Given the description of an element on the screen output the (x, y) to click on. 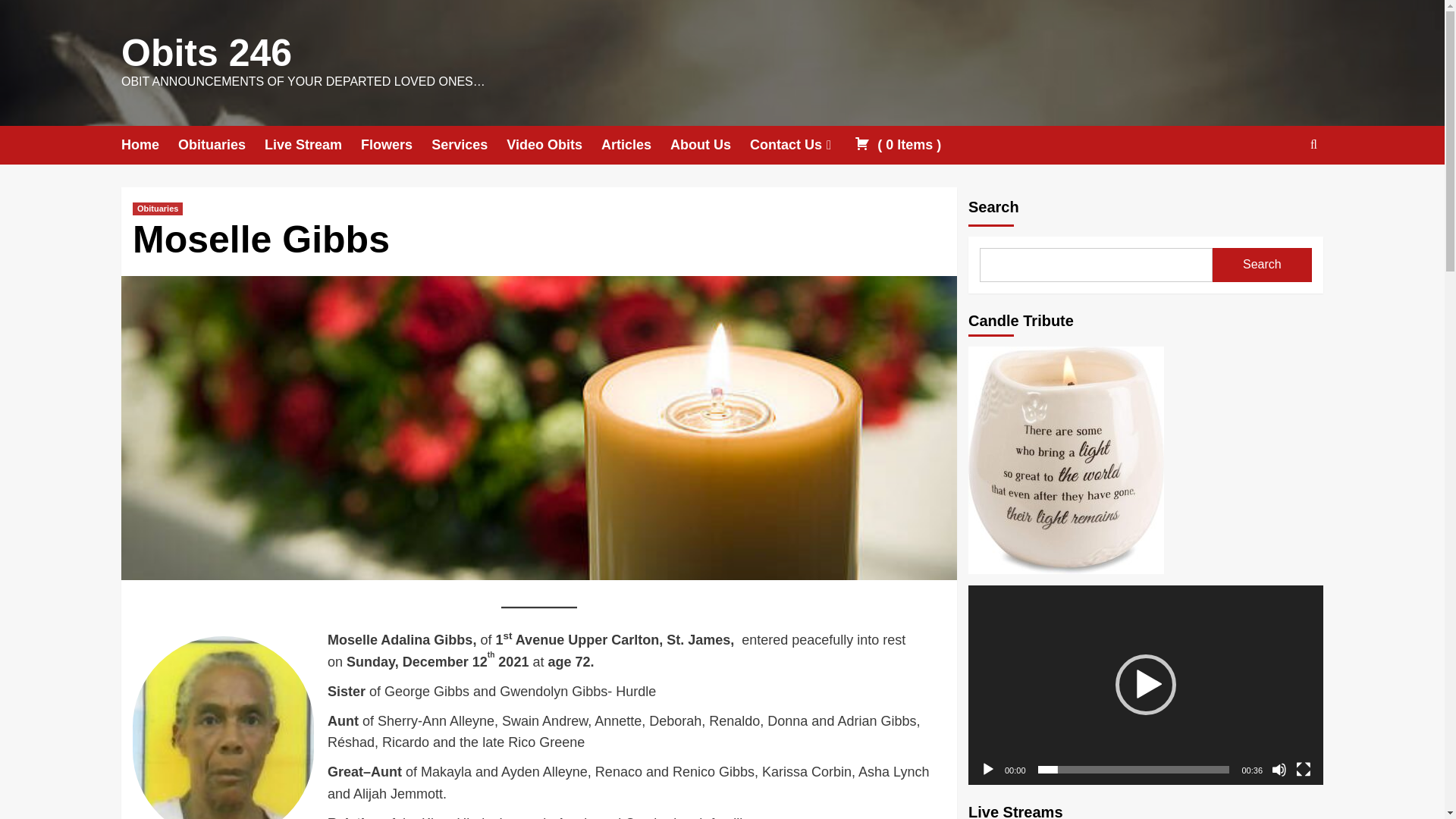
Search (1278, 191)
Obituaries (220, 145)
Articles (635, 145)
Mute (1279, 769)
Flowers (395, 145)
Search (1261, 264)
Play (987, 769)
Contact Us (801, 145)
Home (148, 145)
Obituaries (157, 208)
Fullscreen (1303, 769)
Obits 246 (206, 52)
About Us (709, 145)
Services (468, 145)
Live Stream (312, 145)
